Given the description of an element on the screen output the (x, y) to click on. 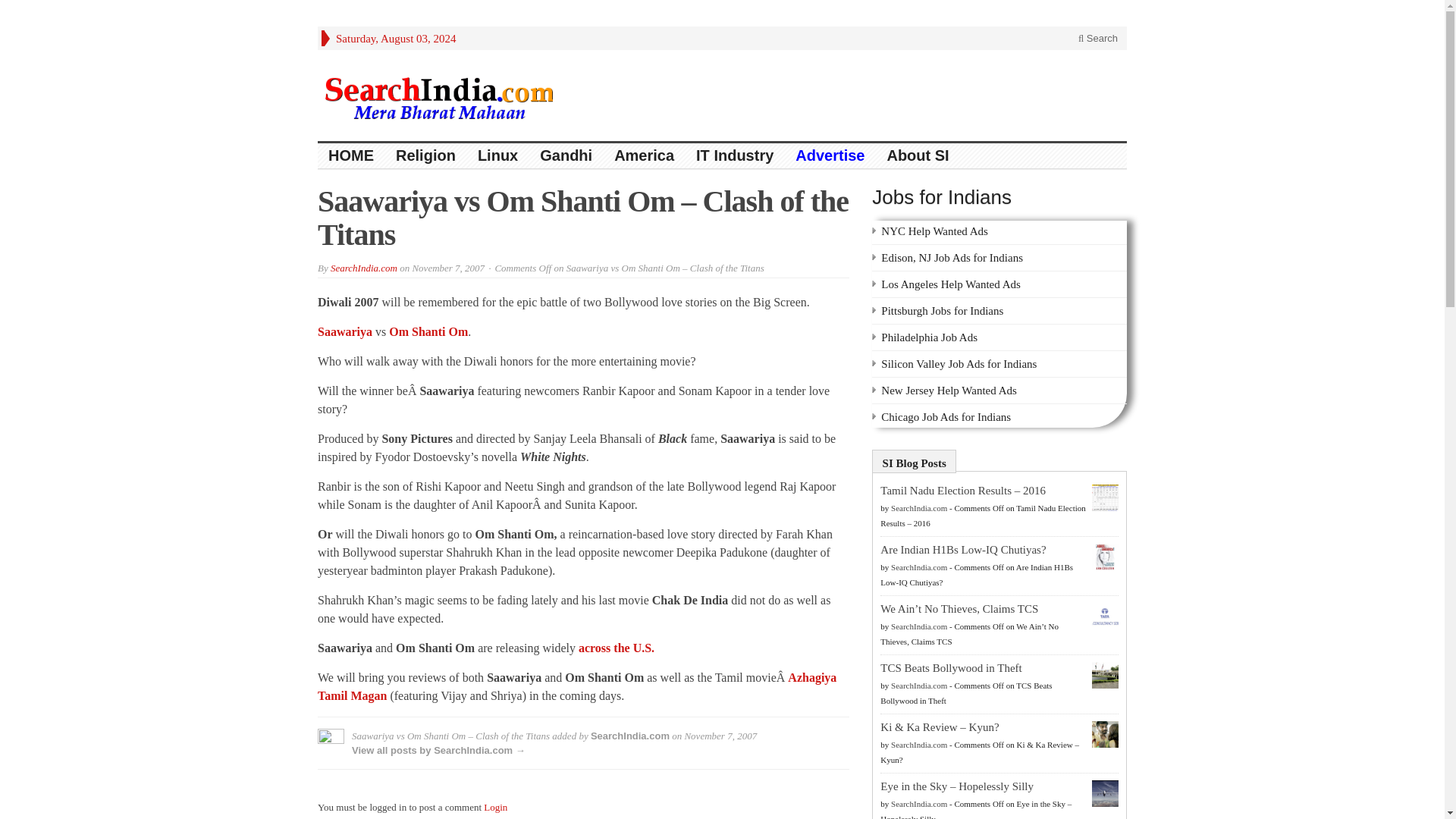
Los Angeles Help Wanted Ads (950, 284)
HOME (351, 155)
Silicon Valley Job Ads for Indians (958, 363)
SearchIndia.com (919, 566)
Om Shanti Om (427, 331)
Chicago Job Ads for Indians (945, 417)
Advertise (830, 155)
Azhagiya Tamil Magan (576, 685)
SearchIndia.com (919, 685)
Posts by SearchIndia.com (919, 744)
Posts by SearchIndia.com (919, 625)
IT Industry (734, 155)
Religion (426, 155)
Posts by SearchIndia.com (919, 507)
Posts by SearchIndia.com (919, 566)
